Given the description of an element on the screen output the (x, y) to click on. 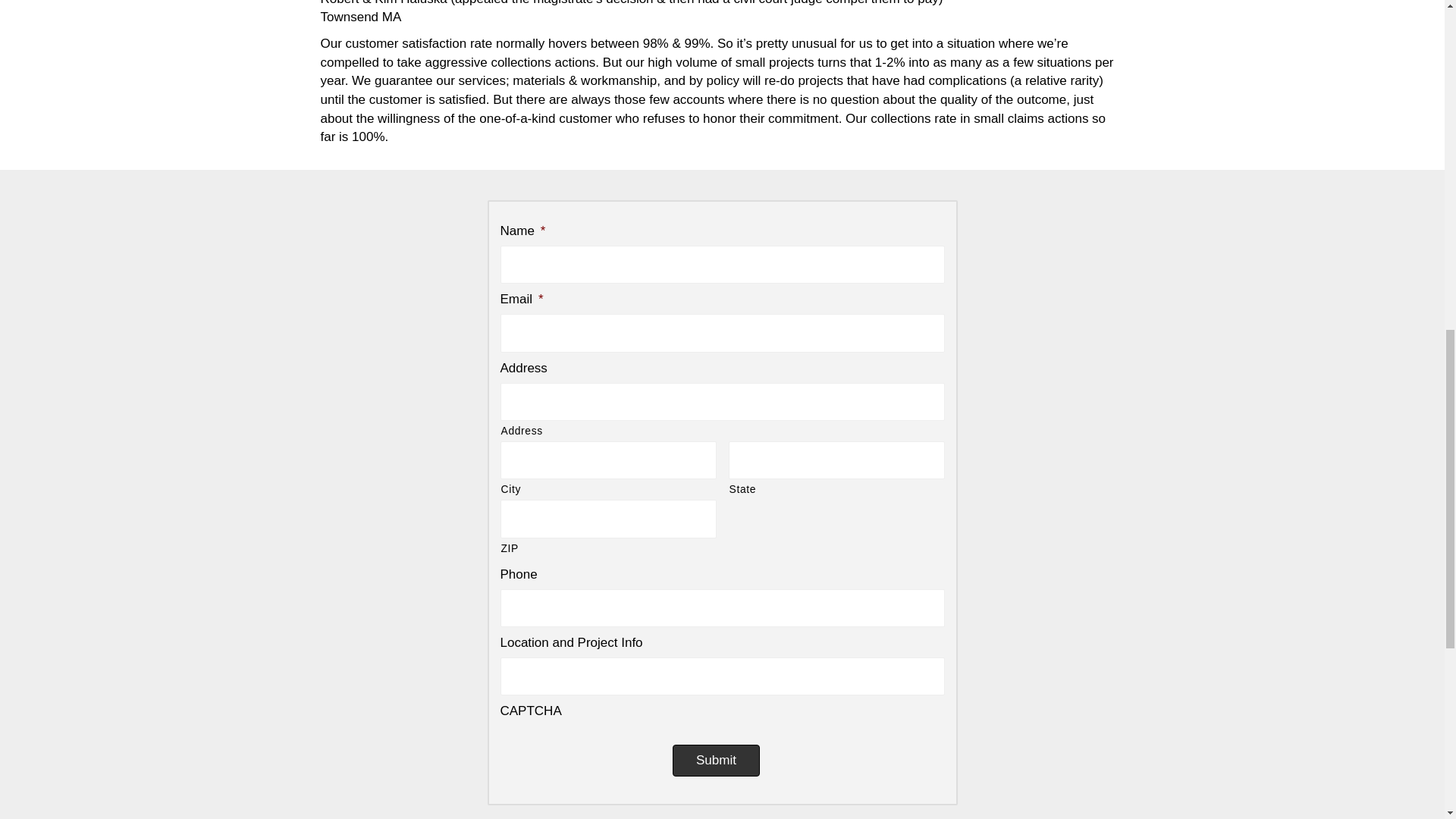
Submit (731, 78)
Submit (716, 760)
Submit (731, 82)
Submit (716, 760)
